Given the description of an element on the screen output the (x, y) to click on. 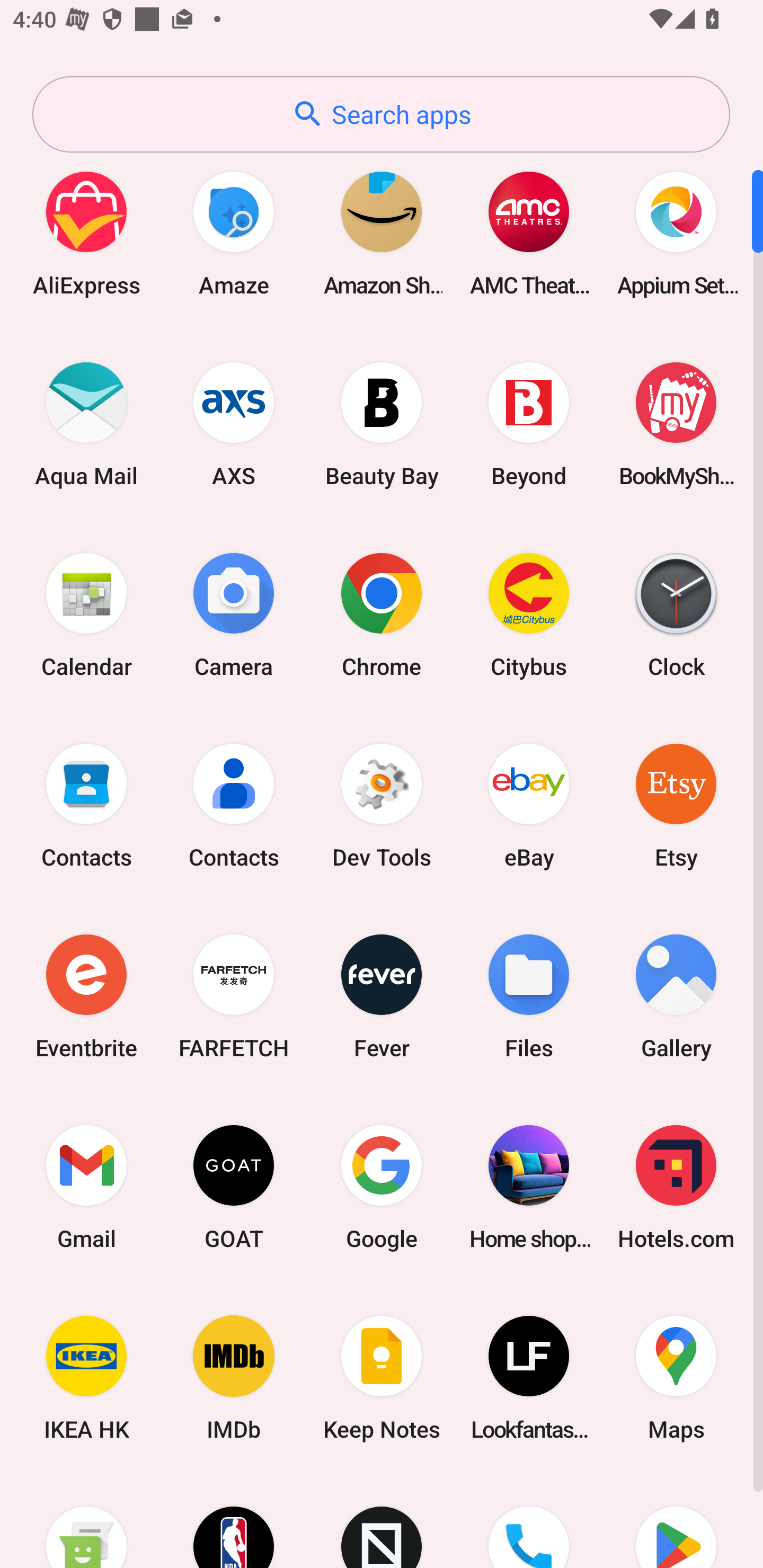
  Search apps (381, 114)
AliExpress (86, 233)
Amaze (233, 233)
Amazon Shopping (381, 233)
AMC Theatres (528, 233)
Appium Settings (676, 233)
Aqua Mail (86, 424)
AXS (233, 424)
Beauty Bay (381, 424)
Beyond (528, 424)
BookMyShow (676, 424)
Calendar (86, 614)
Camera (233, 614)
Chrome (381, 614)
Citybus (528, 614)
Clock (676, 614)
Contacts (86, 805)
Contacts (233, 805)
Dev Tools (381, 805)
eBay (528, 805)
Etsy (676, 805)
Eventbrite (86, 996)
FARFETCH (233, 996)
Fever (381, 996)
Files (528, 996)
Gallery (676, 996)
Gmail (86, 1186)
GOAT (233, 1186)
Google (381, 1186)
Home shopping (528, 1186)
Hotels.com (676, 1186)
IKEA HK (86, 1377)
IMDb (233, 1377)
Keep Notes (381, 1377)
Lookfantastic (528, 1377)
Maps (676, 1377)
